Given the description of an element on the screen output the (x, y) to click on. 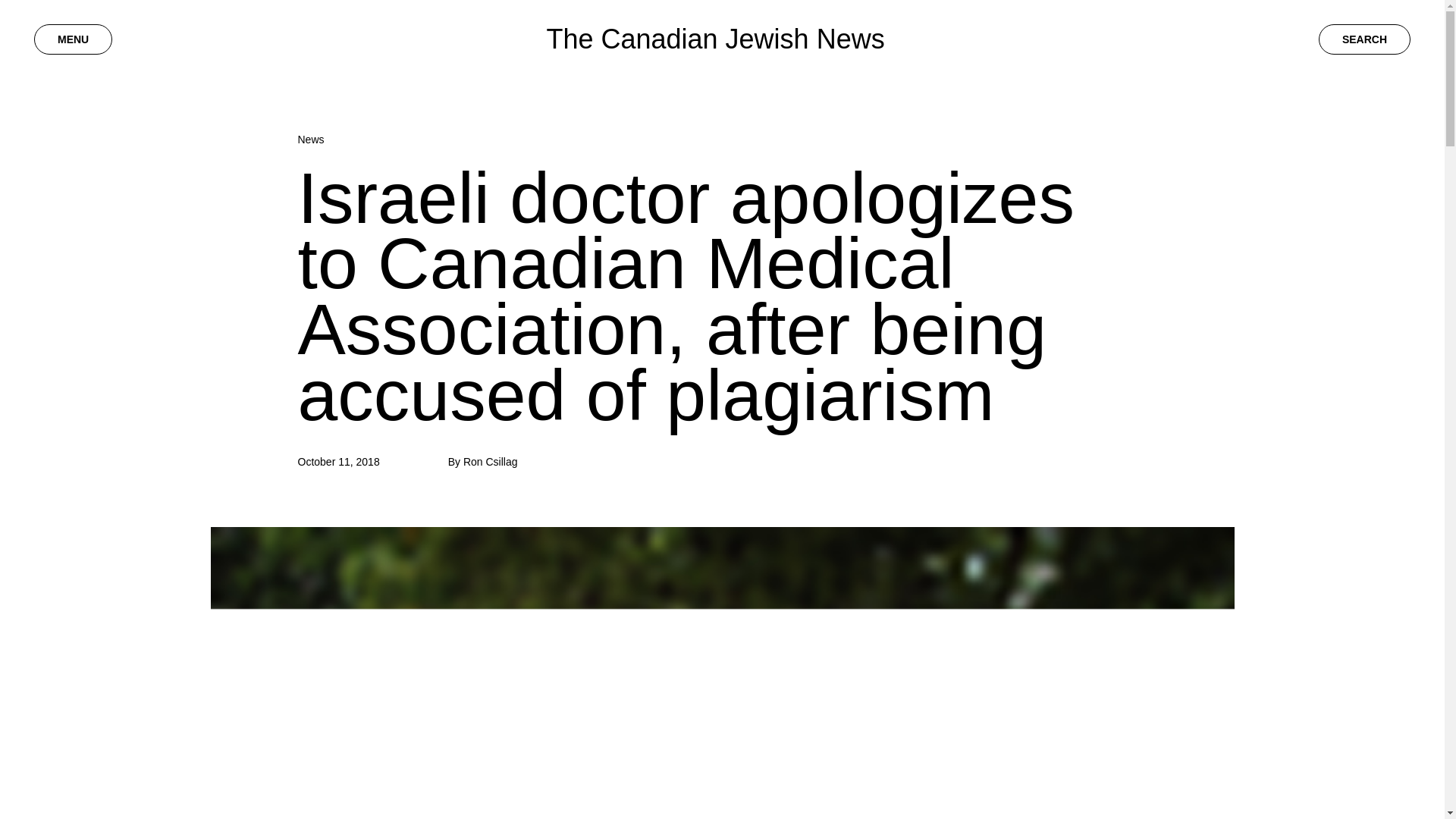
News (310, 139)
The Canadian Jewish News (714, 39)
MENU (72, 39)
SEARCH (1364, 39)
